Given the description of an element on the screen output the (x, y) to click on. 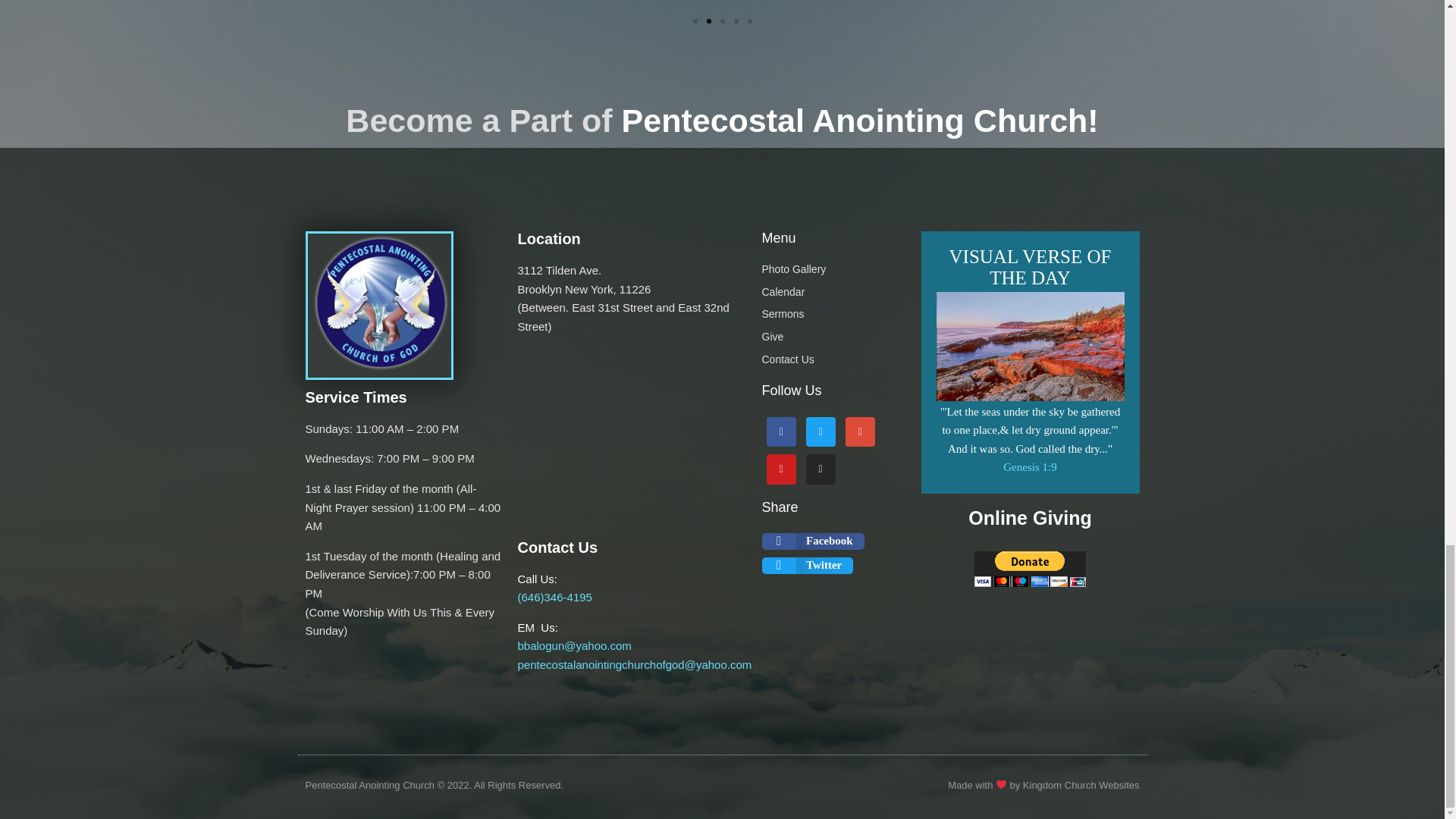
823 Nostrand Avenue Brooklyn, NY 11225 (630, 439)
